Given the description of an element on the screen output the (x, y) to click on. 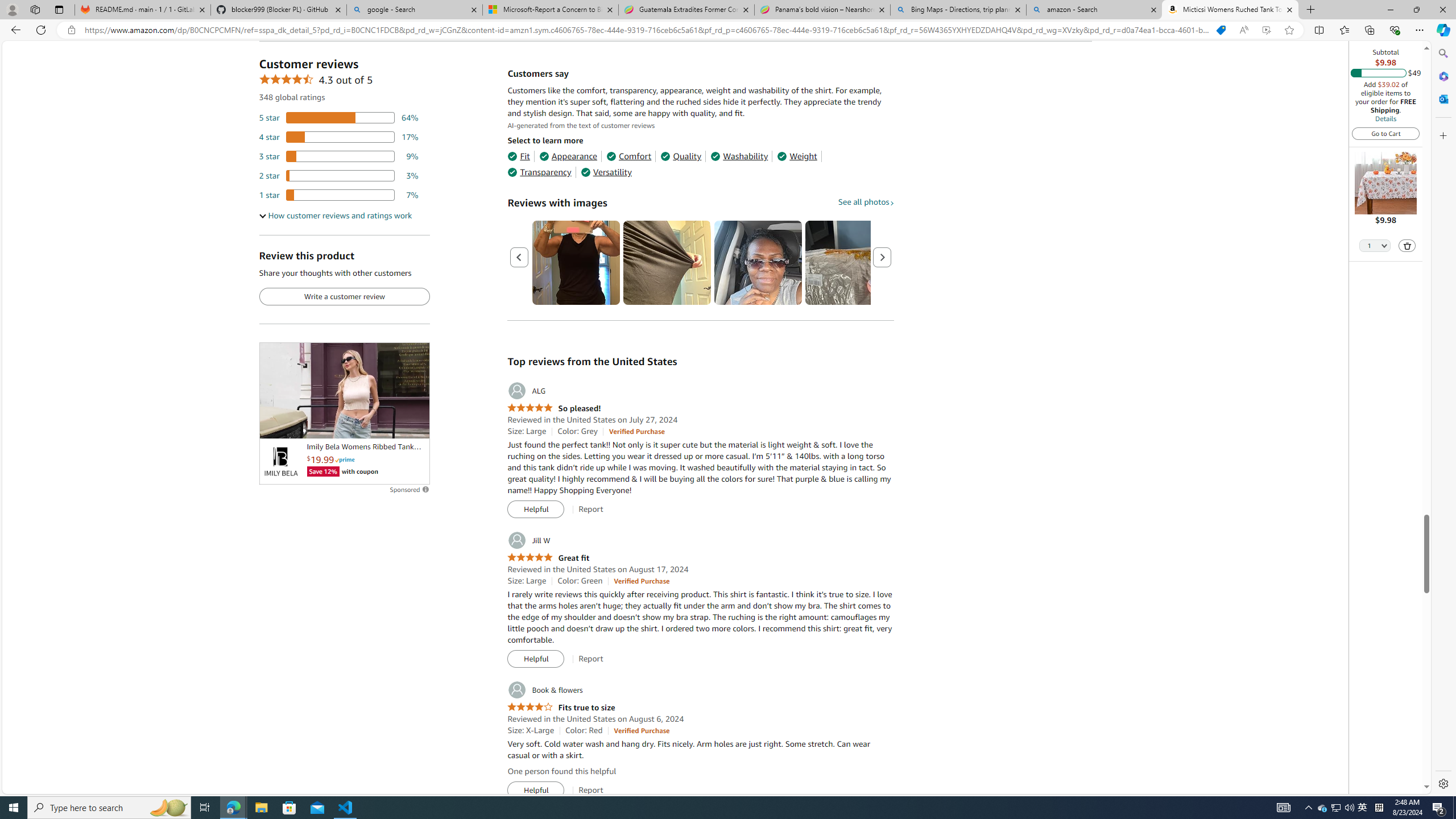
Pause (273, 424)
Customer Image (758, 262)
How customer reviews and ratings work (335, 215)
Sponsored ad (344, 390)
Next page (882, 256)
Versatility (605, 172)
3 percent of reviews have 2 stars (339, 175)
4.0 out of 5 stars Fits true to size (560, 707)
5.0 out of 5 stars So pleased! (553, 408)
